Given the description of an element on the screen output the (x, y) to click on. 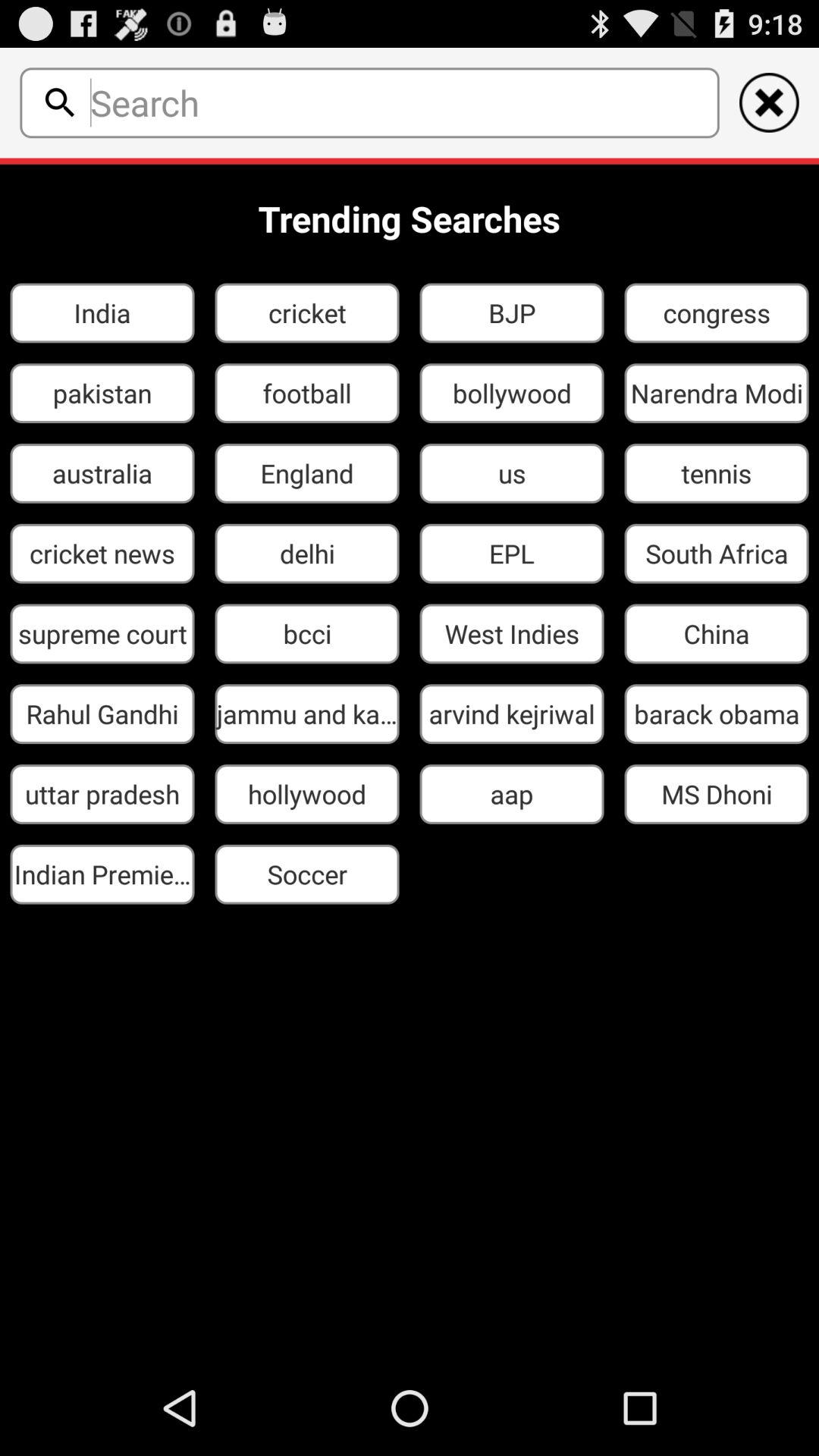
click on the search option (60, 102)
